Given the description of an element on the screen output the (x, y) to click on. 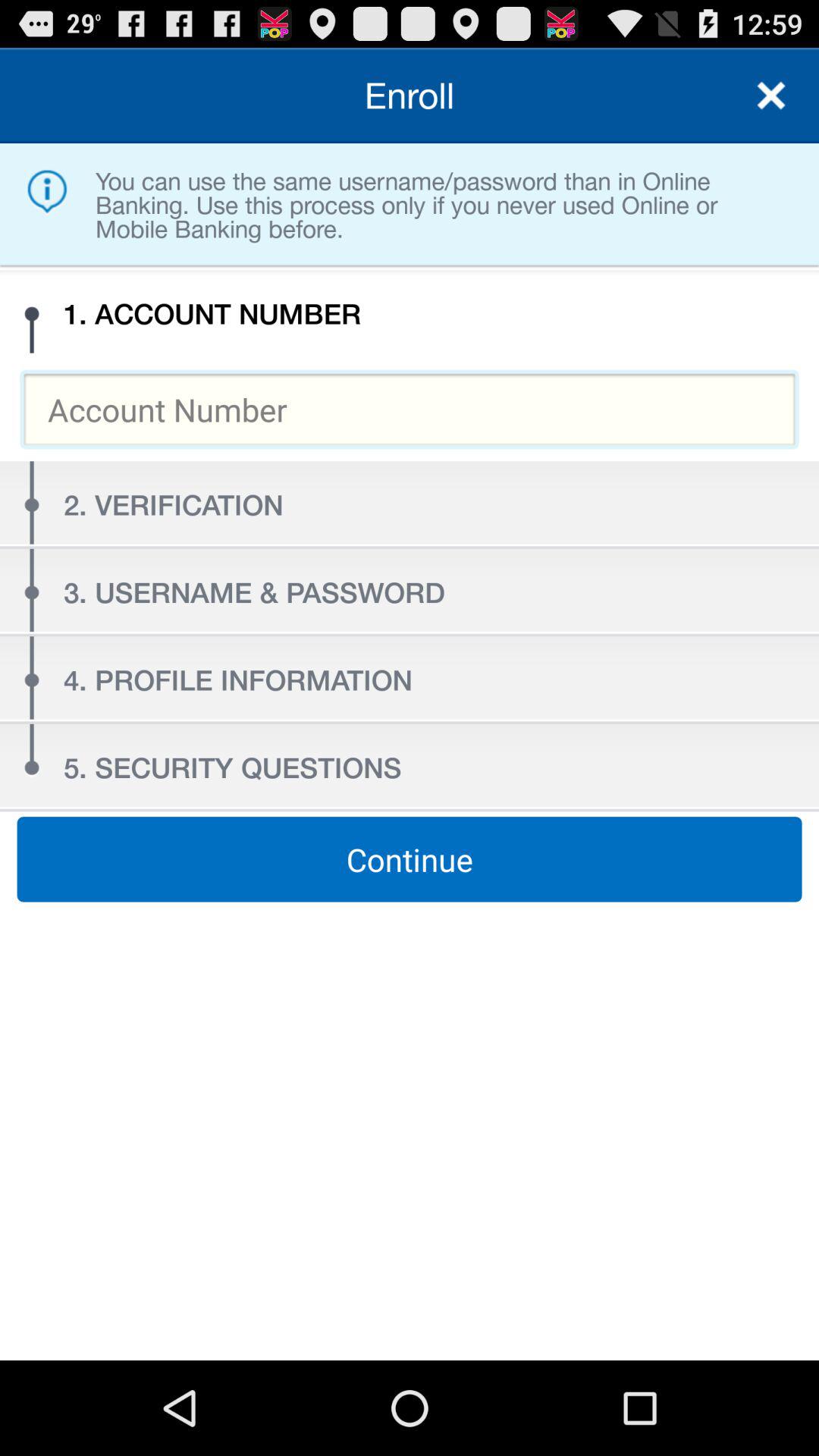
go to close (771, 95)
